Given the description of an element on the screen output the (x, y) to click on. 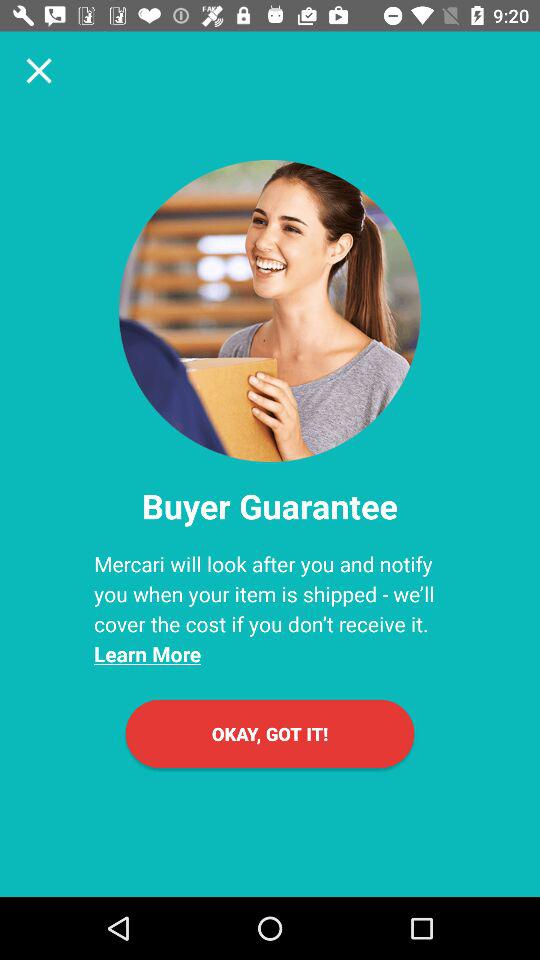
flip until okay, got it! (269, 733)
